Given the description of an element on the screen output the (x, y) to click on. 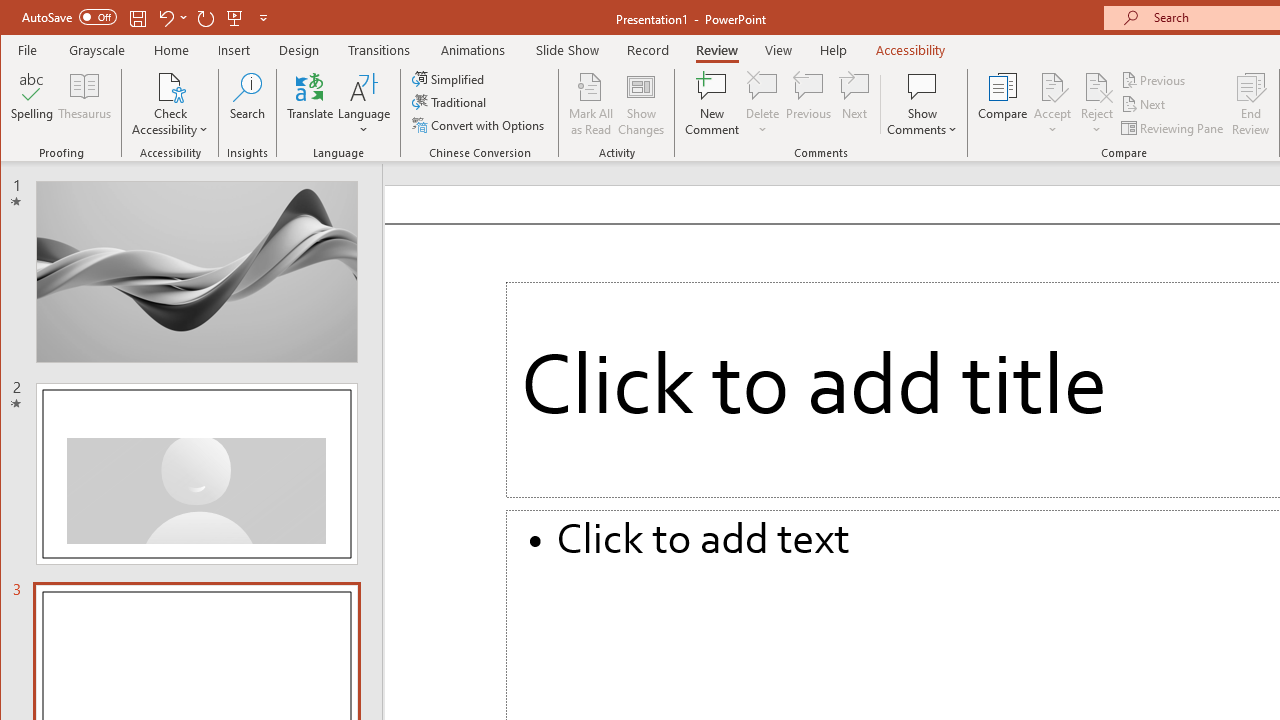
Mark All as Read (591, 104)
Reviewing Pane (1173, 127)
Spelling... (32, 104)
Traditional (450, 101)
Previous (1154, 80)
Compare (1002, 104)
Reject (1096, 104)
Translate (310, 104)
